Given the description of an element on the screen output the (x, y) to click on. 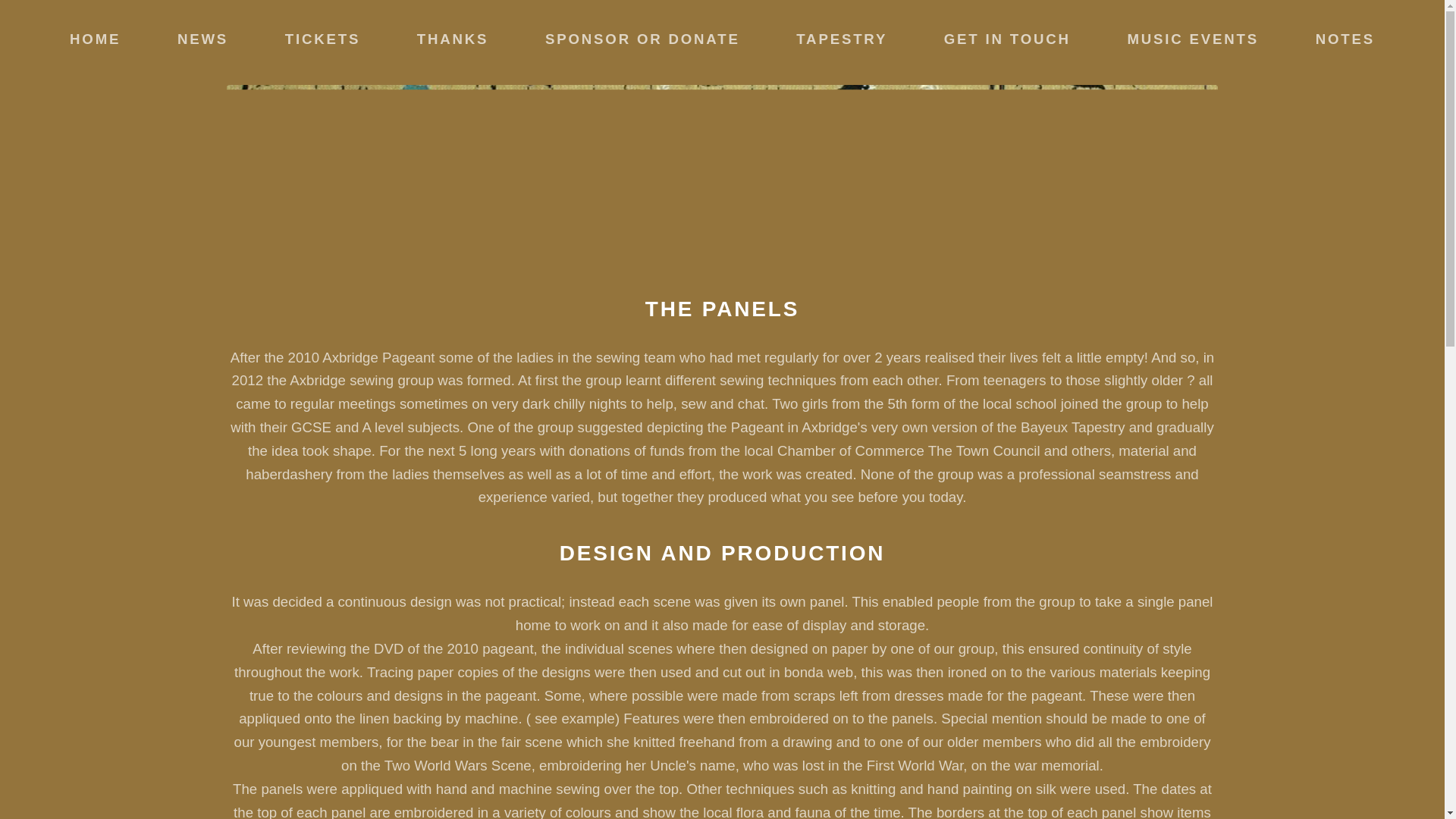
NOTES (1345, 39)
SPONSOR OR DONATE (642, 39)
TAPESTRY (841, 39)
NEWS (203, 39)
THANKS (452, 39)
Axbridge Pageant Tapestry Detail (95, 39)
"Thanks" (452, 39)
Axbridge Pageant Tapestry Detail (203, 39)
Axbridge Pageant Tapestry Detail (1345, 39)
Axbridge Pageant Tapestry Detail (841, 39)
GET IN TOUCH (1007, 39)
Axbridge Pageant Tapestry Detail (642, 39)
Axbridge Pageant Tapestry Detail (1007, 39)
Axbridge Pageant Tapestry Detail (322, 39)
